Given the description of an element on the screen output the (x, y) to click on. 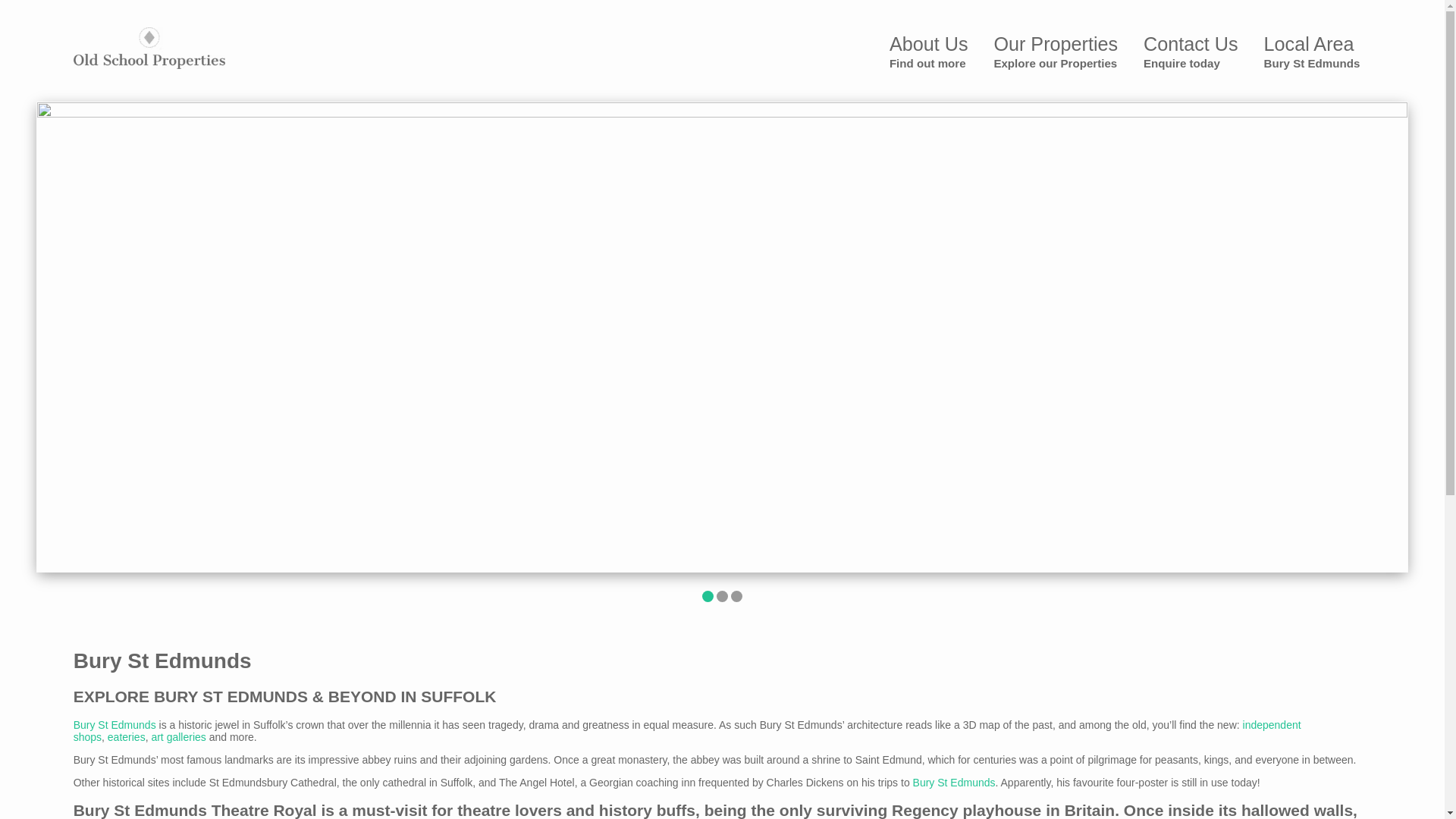
Shopping in Bury St Edmunds (687, 730)
art galleries (178, 736)
Back to Homepage (149, 47)
Bury St Edmunds (1055, 51)
Bury St Edmunds (114, 725)
Eating in Bury St Edmunds (953, 782)
eateries (1311, 51)
